Given the description of an element on the screen output the (x, y) to click on. 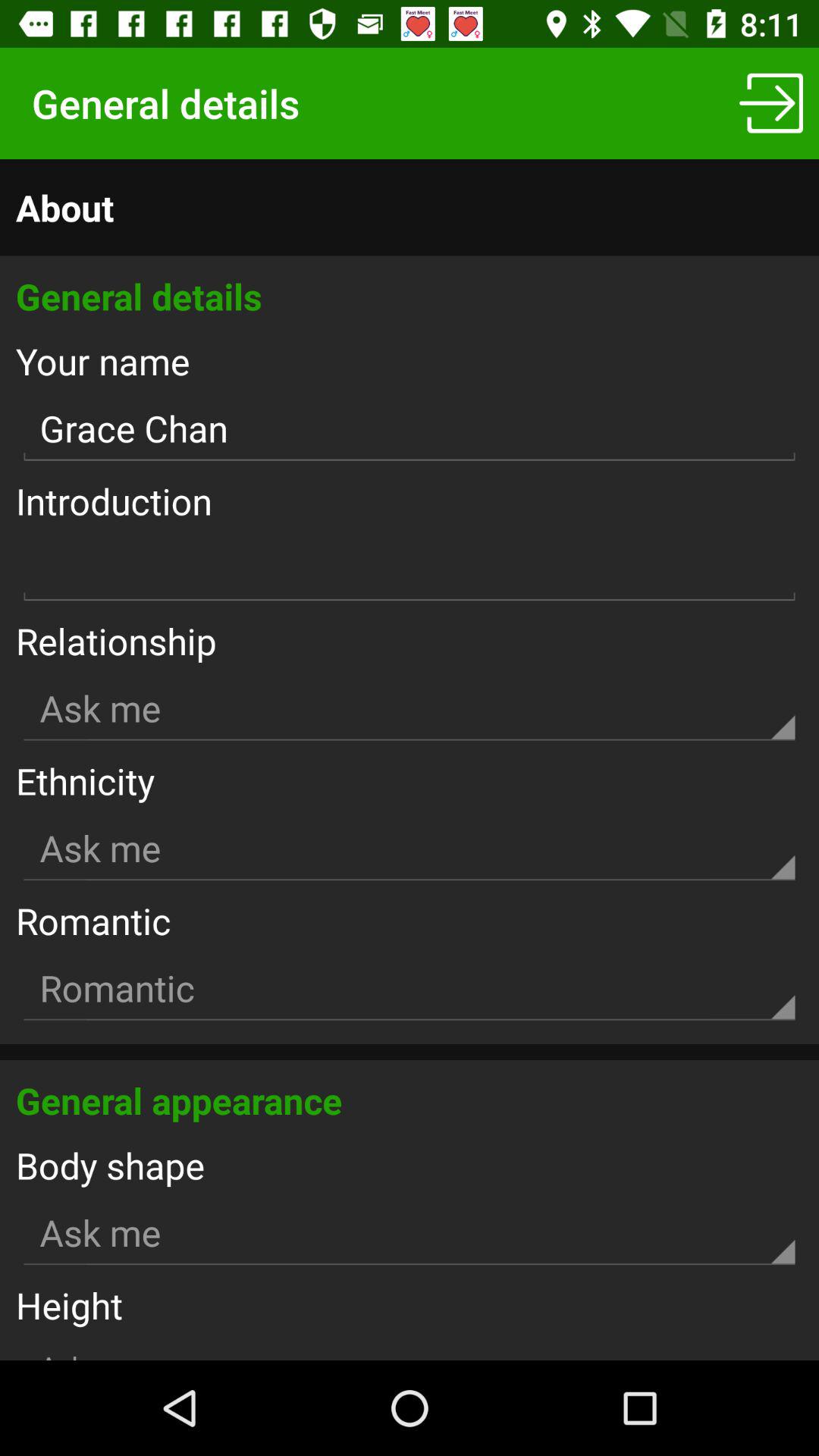
click on the button at the right bottom corner of the page (771, 103)
